Given the description of an element on the screen output the (x, y) to click on. 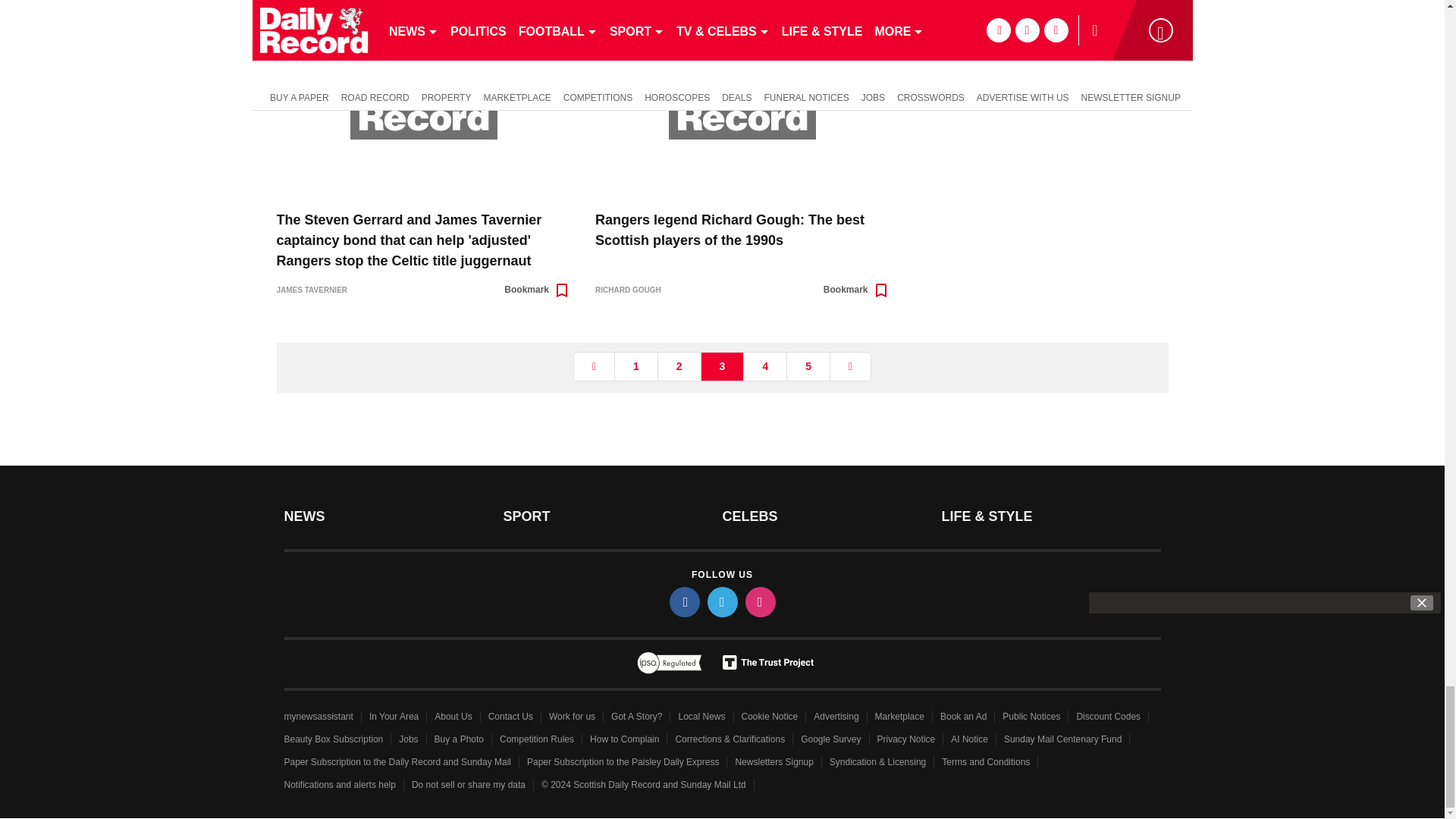
instagram (759, 602)
twitter (721, 602)
facebook (683, 602)
